Given the description of an element on the screen output the (x, y) to click on. 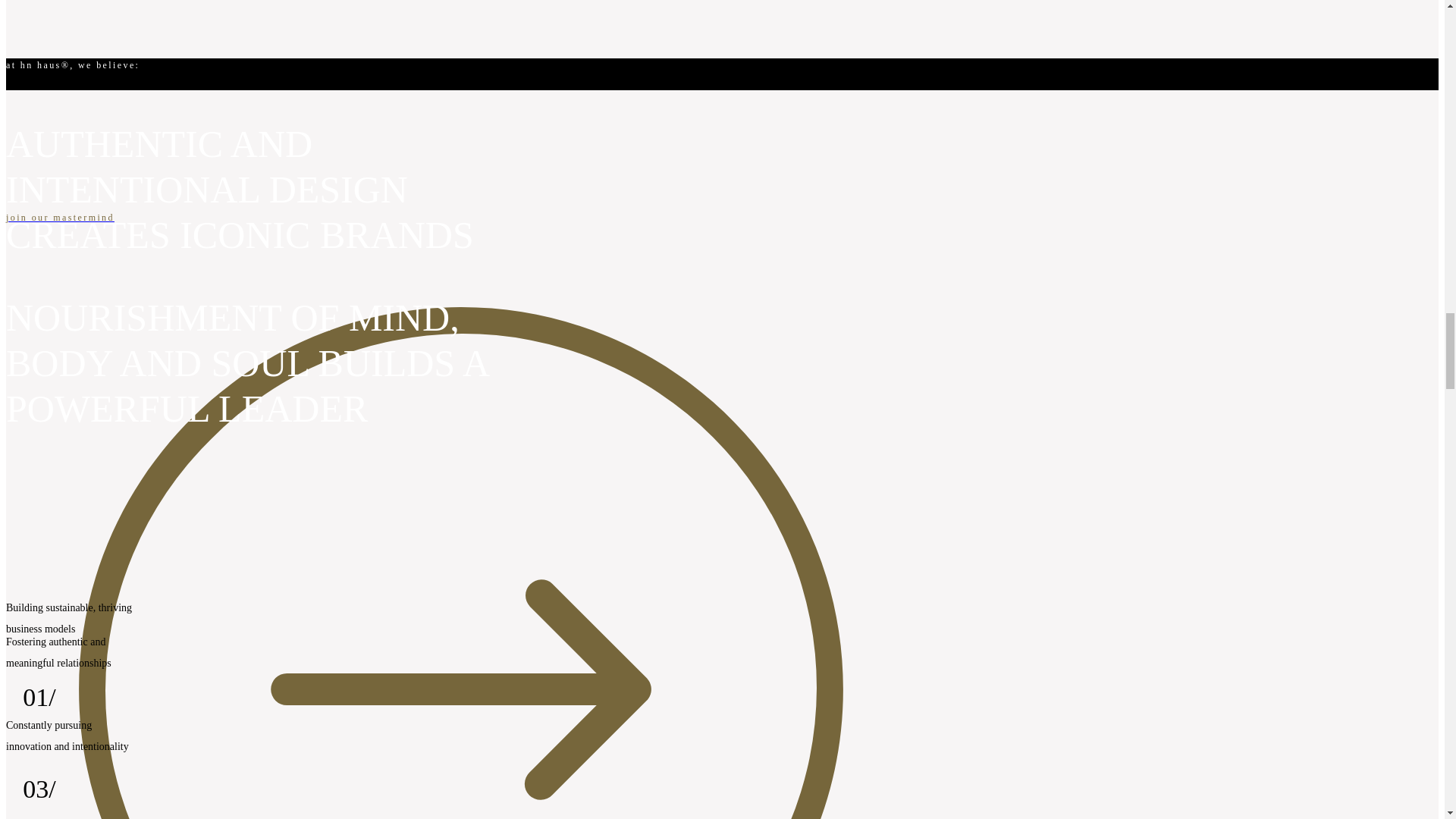
join our mastermind (460, 217)
